Given the description of an element on the screen output the (x, y) to click on. 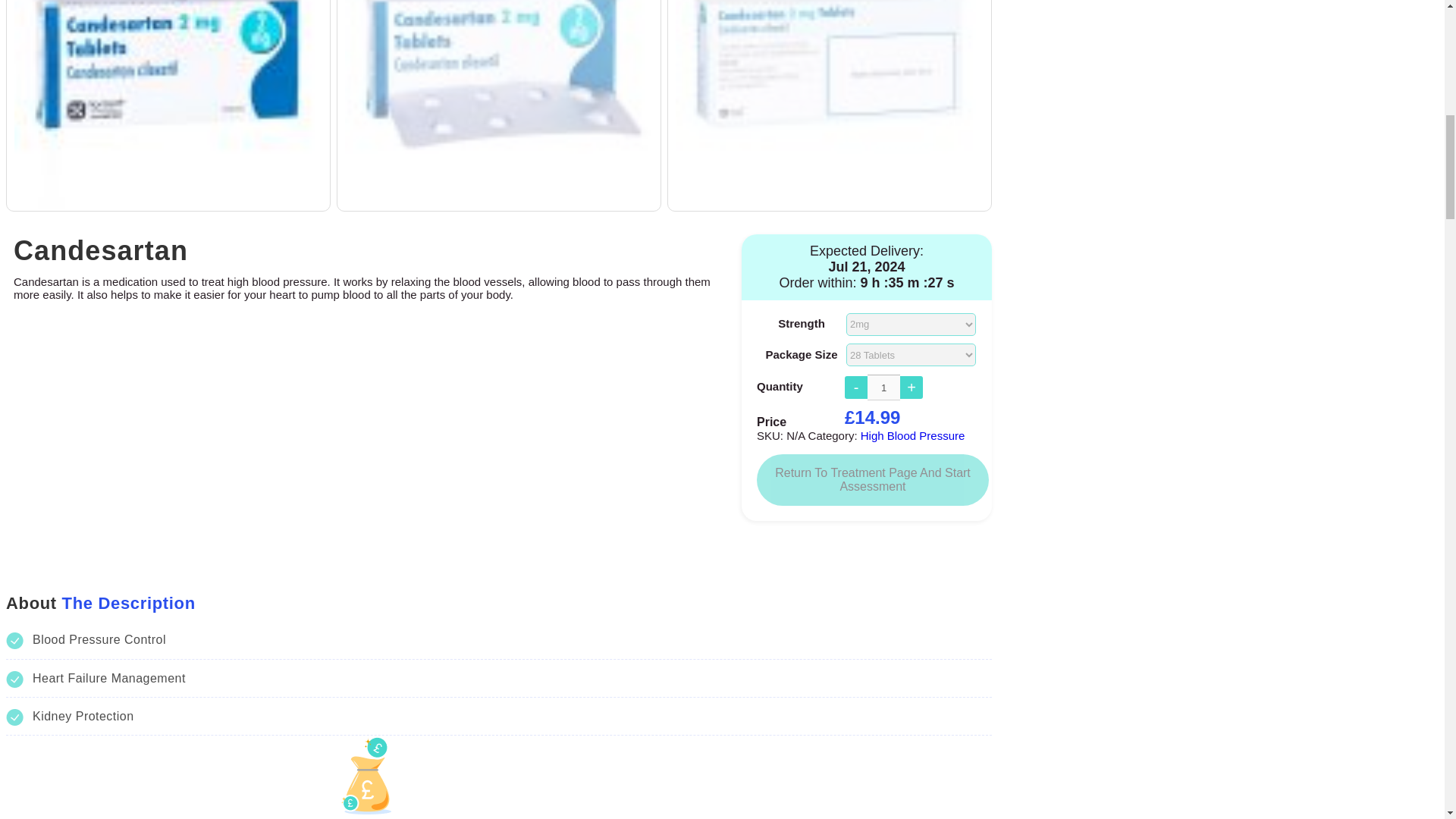
1 (883, 387)
Qty (883, 387)
